Given the description of an element on the screen output the (x, y) to click on. 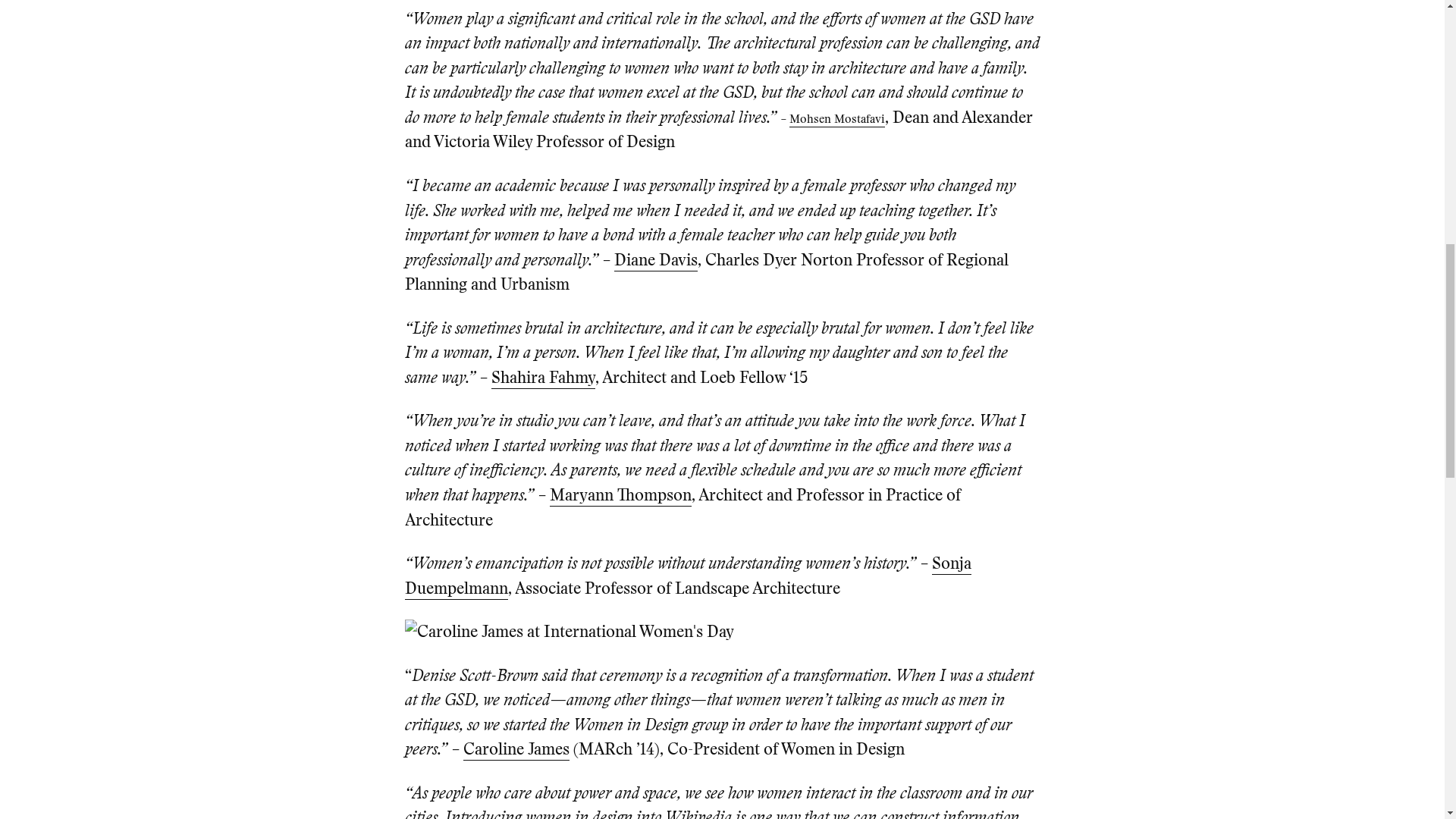
Caroline James at International Women's Day (568, 631)
